Given the description of an element on the screen output the (x, y) to click on. 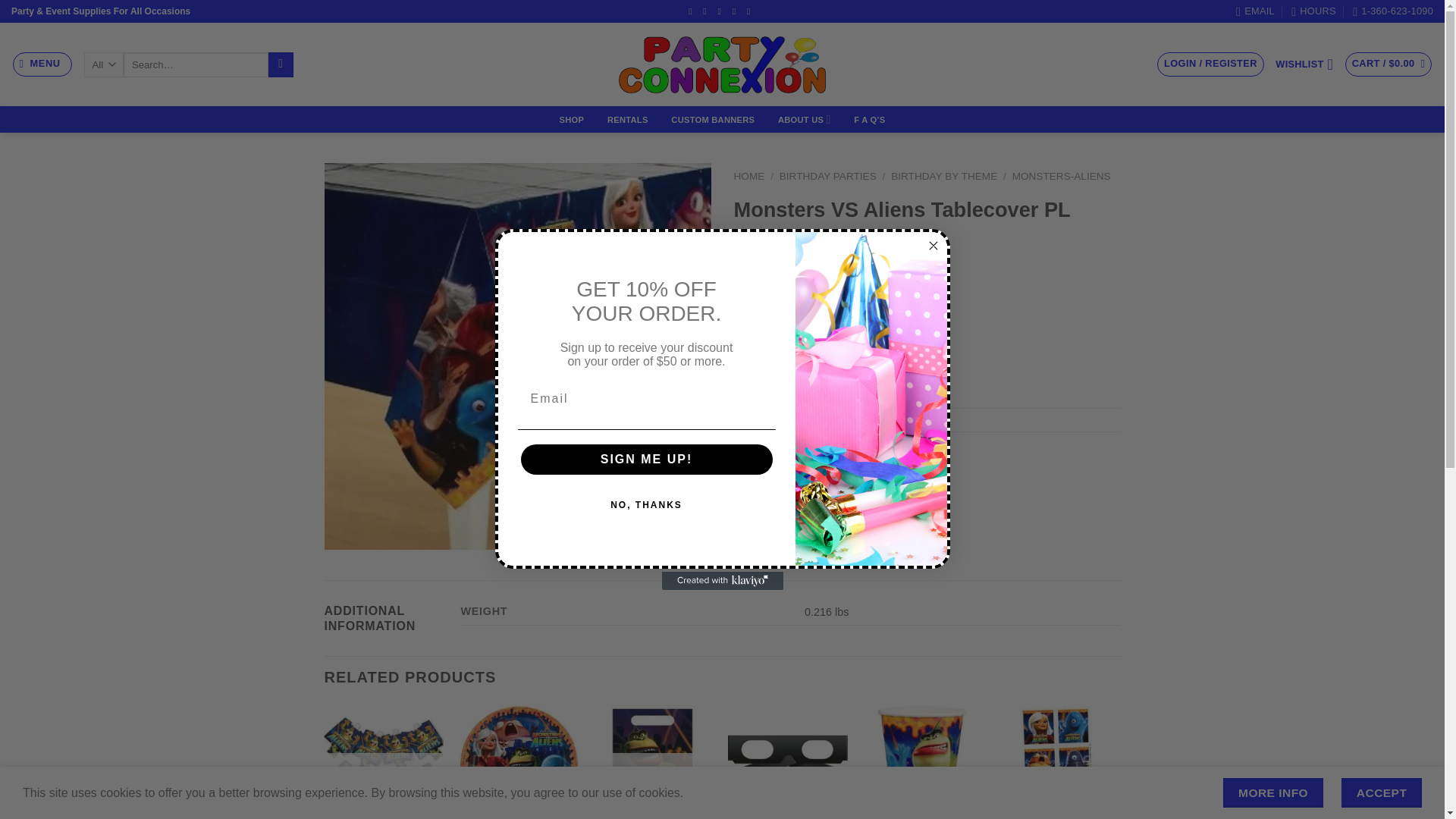
Wishlist (1304, 64)
1-360-623-1090 (1392, 11)
BIRTHDAY PARTIES (827, 175)
Login (1210, 64)
RENTALS (627, 119)
CUSTOM BANNERS (712, 119)
1-360-623-1090 (1392, 11)
HOURS (1313, 11)
Cart (1388, 64)
MENU (42, 64)
BIRTHDAY BY THEME (944, 175)
SHOP (571, 119)
EMAIL (1255, 11)
HOME (749, 175)
Search (280, 64)
